Given the description of an element on the screen output the (x, y) to click on. 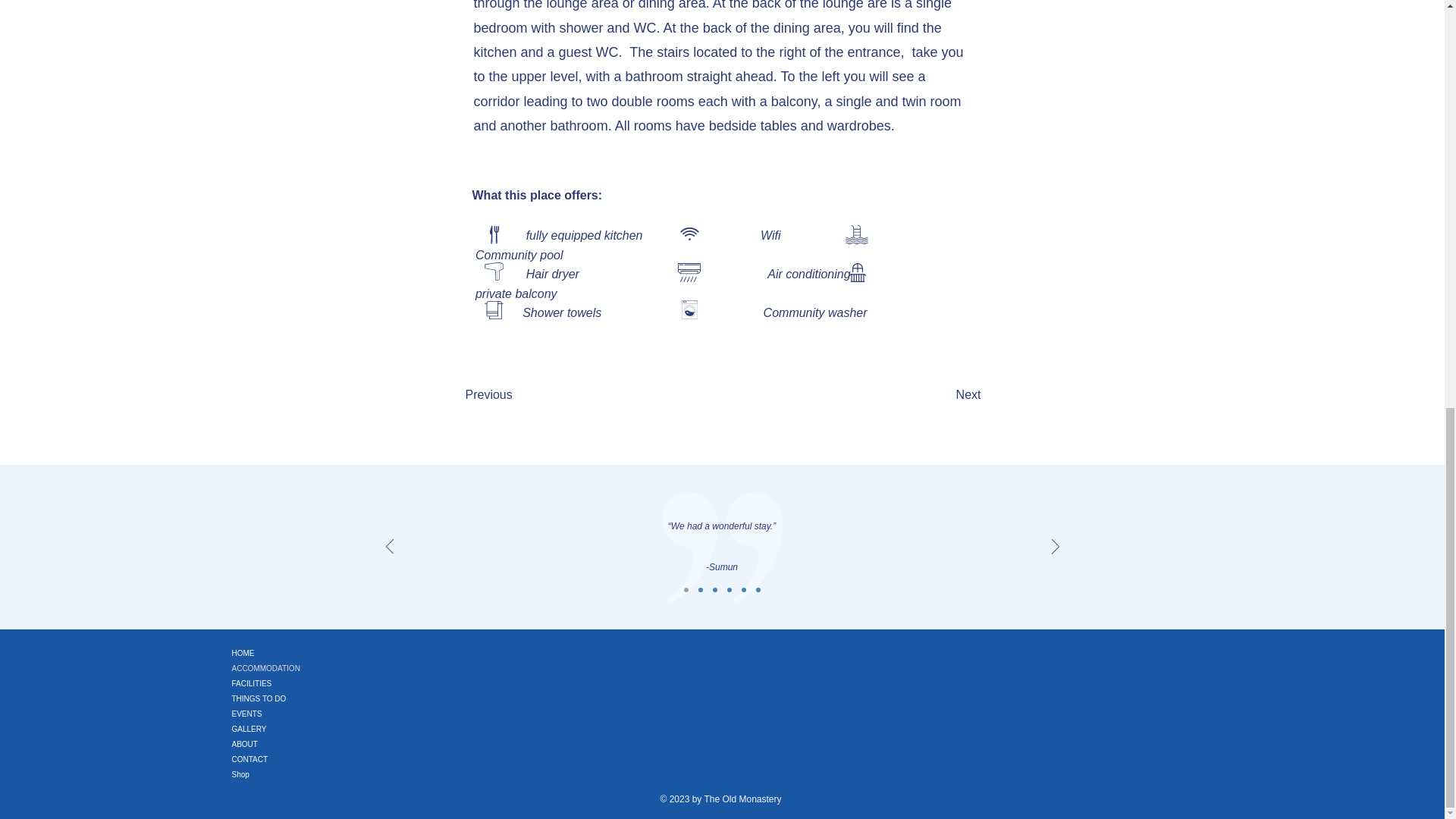
Previous (515, 395)
Next (943, 395)
HOME (285, 653)
ACCOMMODATION (285, 668)
